Given the description of an element on the screen output the (x, y) to click on. 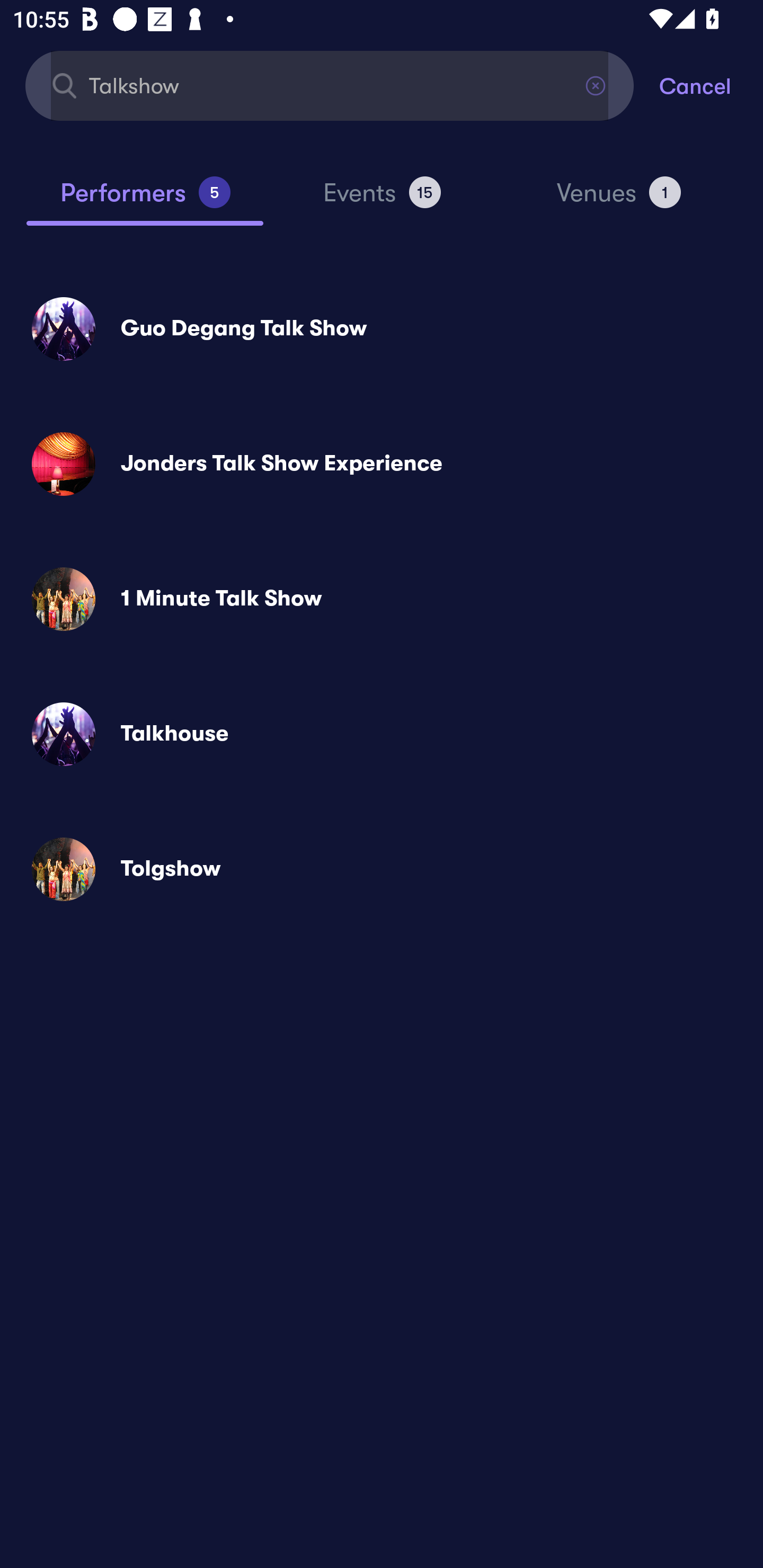
Talkshow Find (329, 85)
Talkshow Find (329, 85)
Cancel (711, 85)
Performers 5 (144, 200)
Events 15 (381, 200)
Venues 1 (618, 200)
Guo Degang Talk Show (381, 328)
Jonders Talk Show Experience (381, 464)
1 Minute Talk Show (381, 598)
Talkhouse (381, 734)
Tolgshow (381, 869)
